Given the description of an element on the screen output the (x, y) to click on. 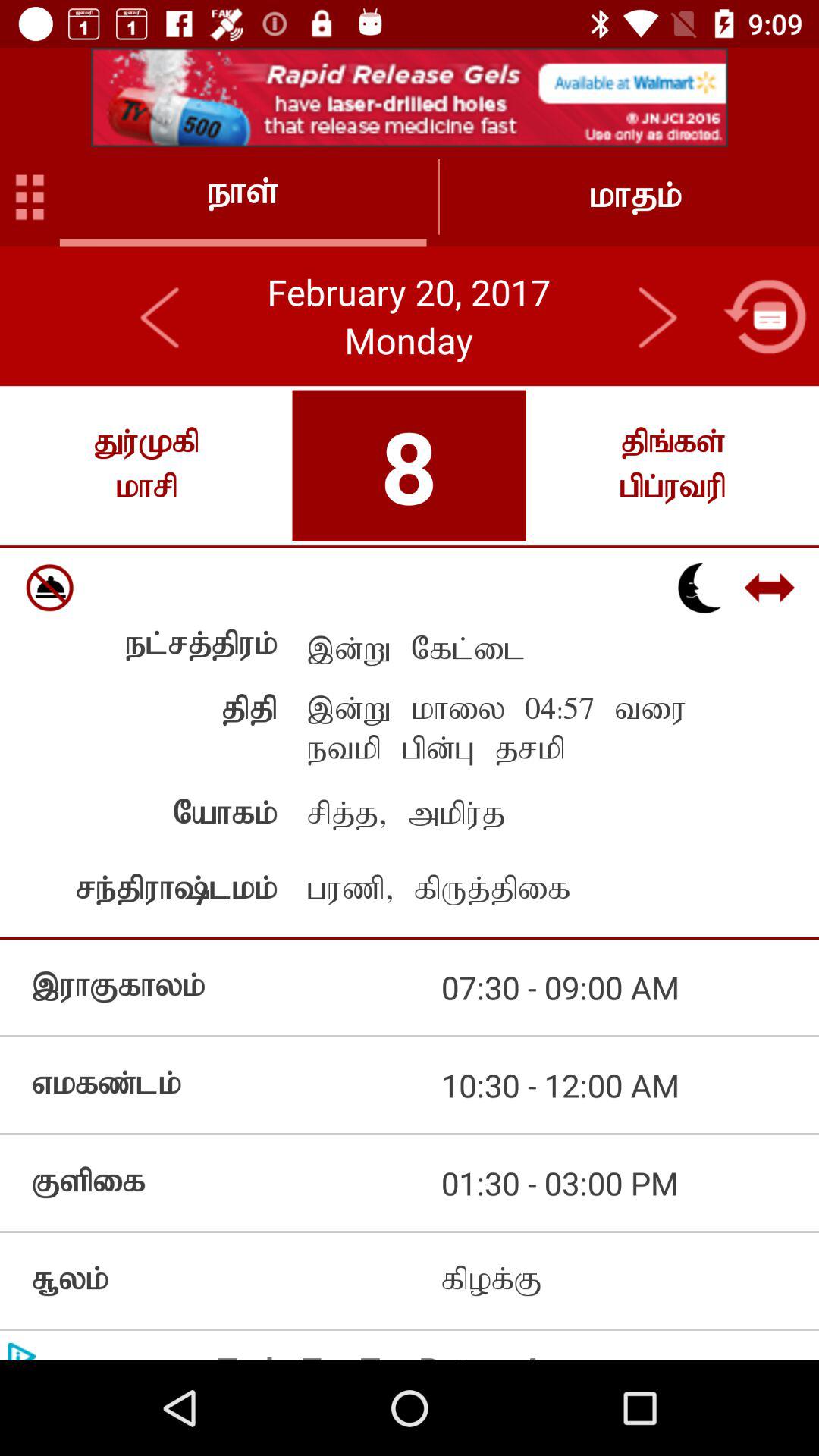
details about advertisement (409, 97)
